Given the description of an element on the screen output the (x, y) to click on. 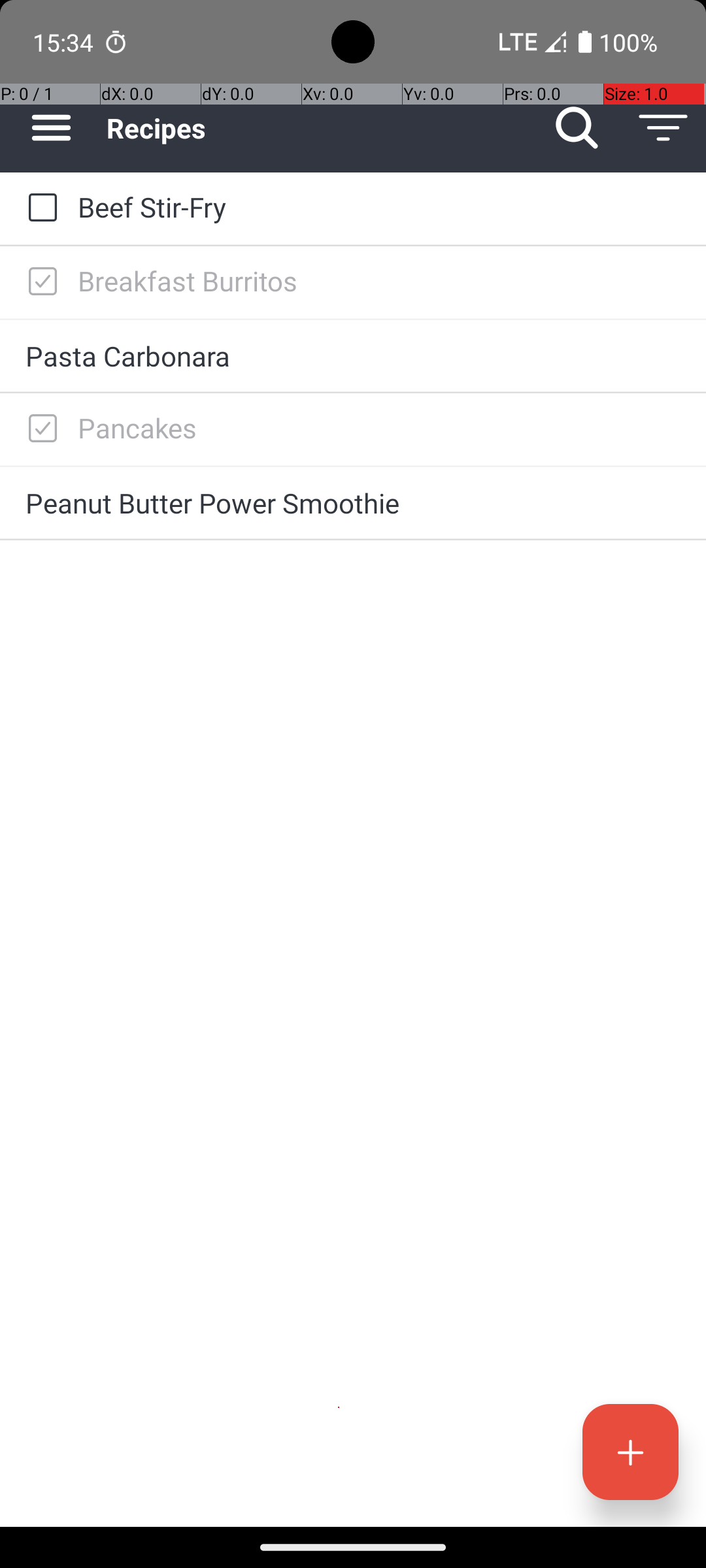
to-do: Beef Stir-Fry Element type: android.widget.CheckBox (38, 208)
Beef Stir-Fry Element type: android.widget.TextView (378, 206)
to-do: Breakfast Burritos Element type: android.widget.CheckBox (38, 282)
Breakfast Burritos Element type: android.widget.TextView (378, 280)
Pasta Carbonara Element type: android.widget.TextView (352, 355)
to-do: Pancakes Element type: android.widget.CheckBox (38, 429)
Pancakes Element type: android.widget.TextView (378, 427)
Peanut Butter Power Smoothie Element type: android.widget.TextView (352, 502)
